Given the description of an element on the screen output the (x, y) to click on. 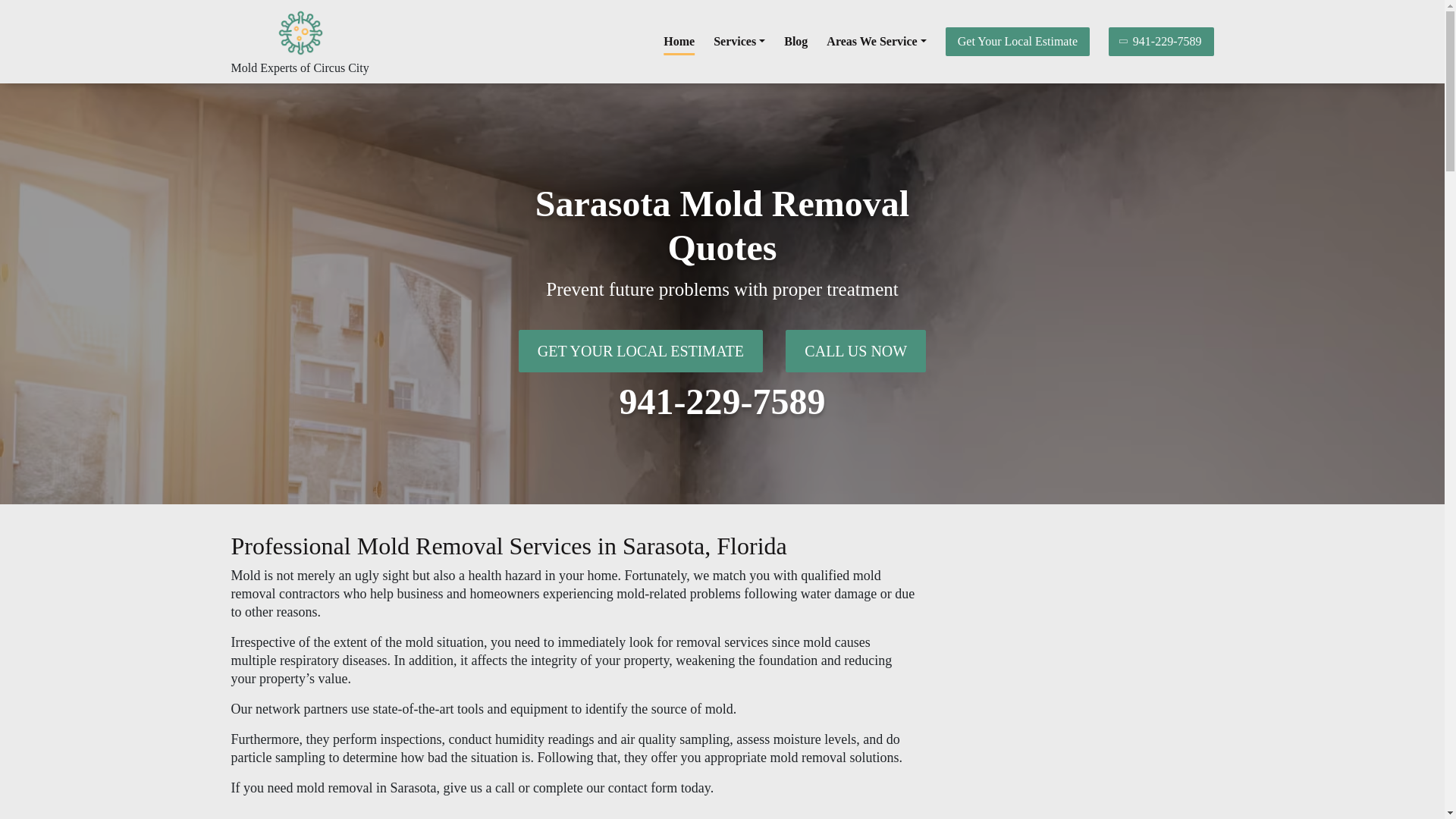
Services (739, 41)
GET YOUR LOCAL ESTIMATE (640, 351)
Home (678, 41)
Areas We Service (876, 41)
Mold Experts of Circus City (299, 67)
CALL US NOW (856, 351)
941-229-7589 (1161, 41)
941-229-7589 (722, 401)
Get Your Local Estimate (1016, 41)
Services (739, 41)
Home (678, 41)
